Given the description of an element on the screen output the (x, y) to click on. 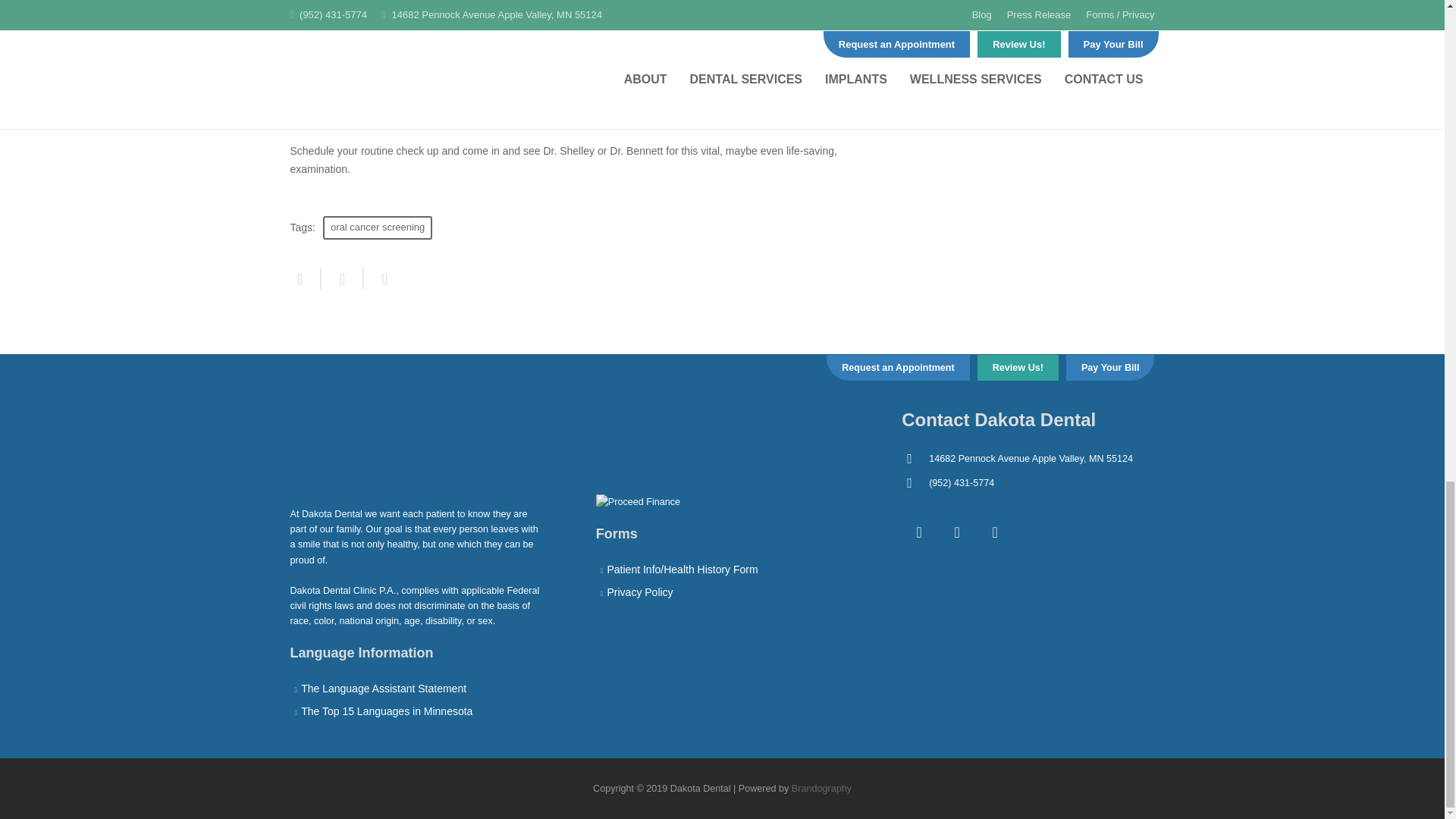
Pin this (379, 278)
Tweet this (342, 278)
Share this (304, 278)
